Given the description of an element on the screen output the (x, y) to click on. 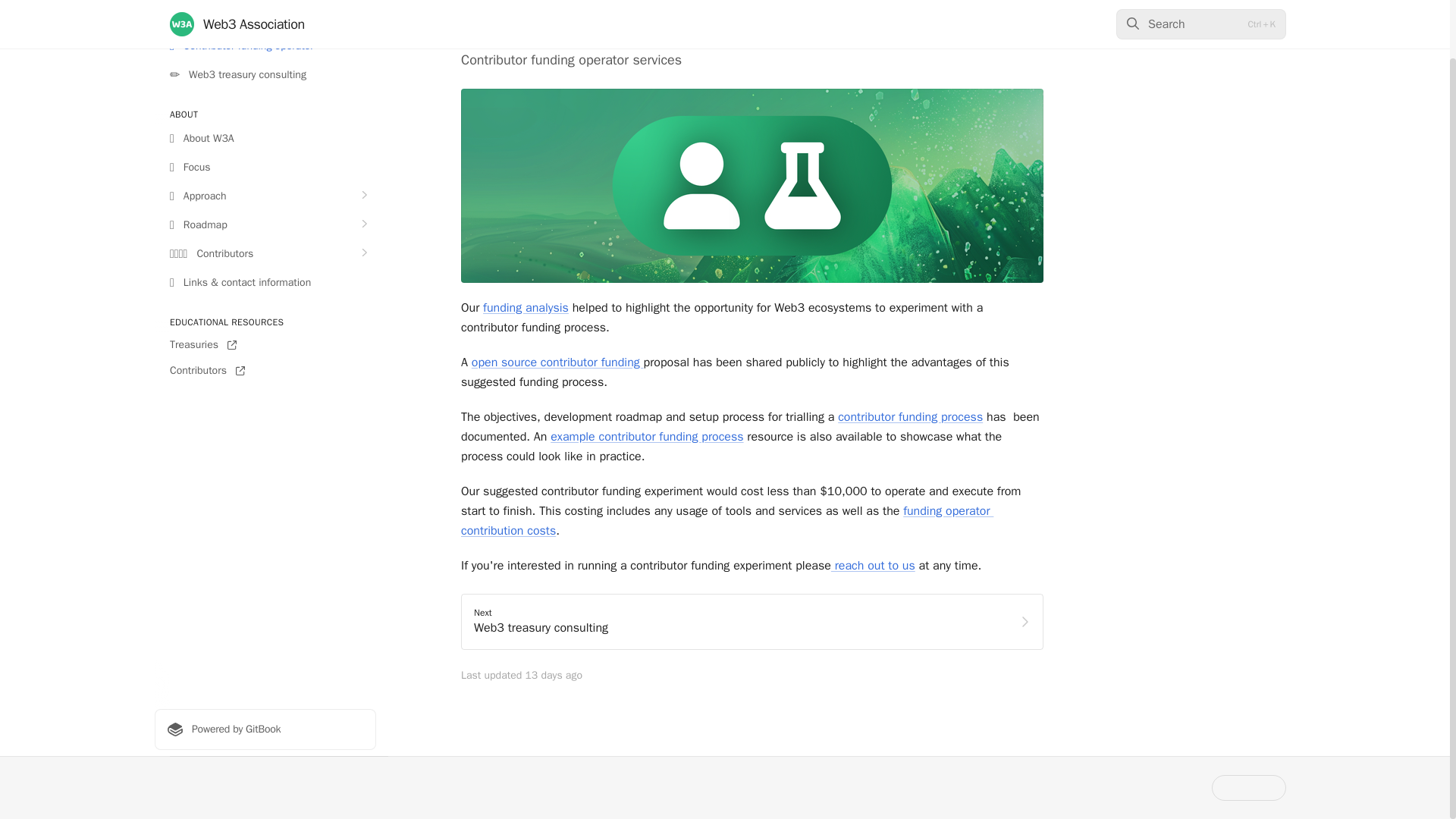
open source contributor funding  (557, 362)
funding analysis (526, 307)
contributor funding process (910, 417)
Powered by GitBook (264, 729)
Contributors (264, 370)
Treasuries (264, 344)
